Given the description of an element on the screen output the (x, y) to click on. 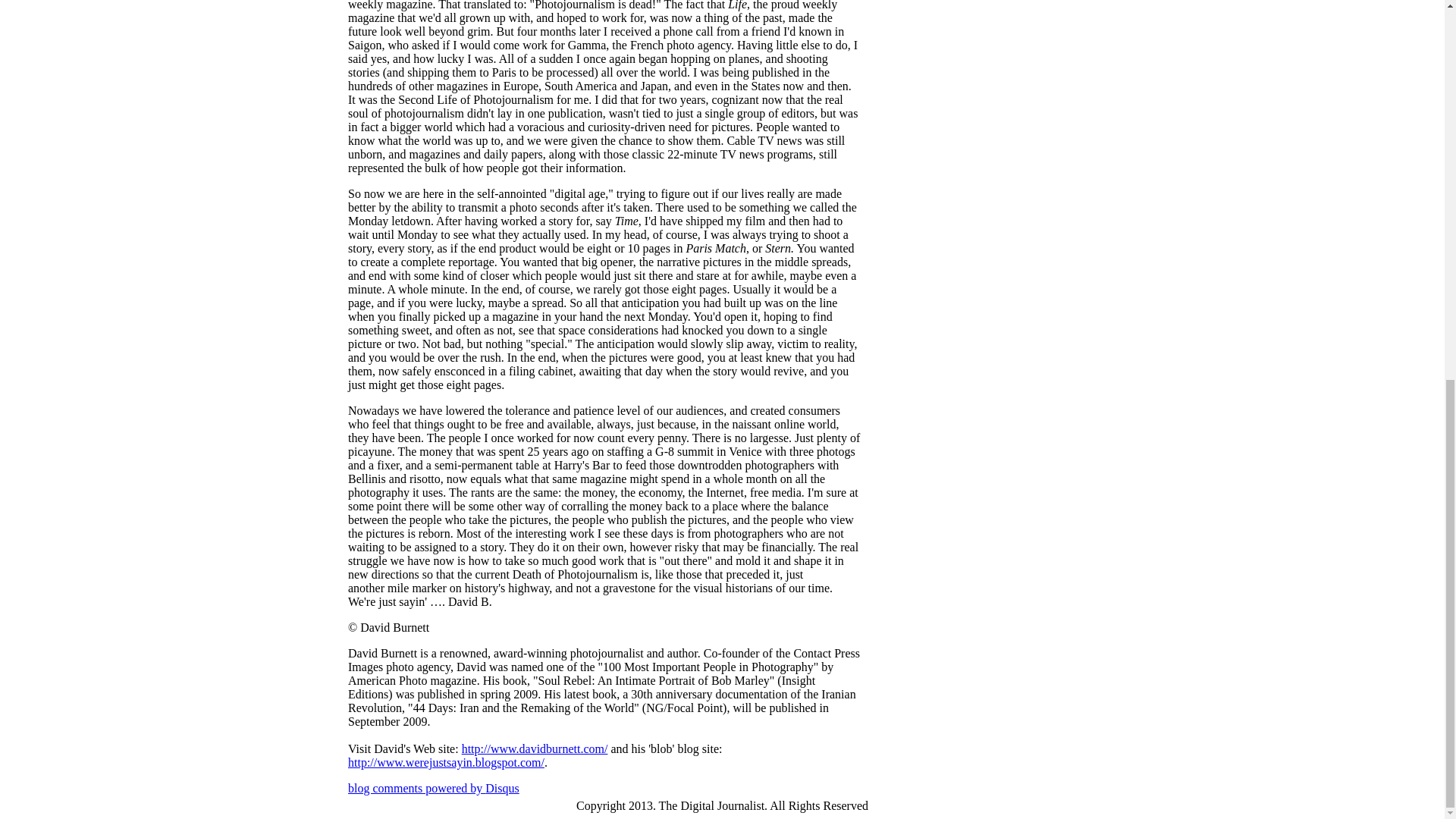
We're Just Sayin (445, 762)
blog comments powered by Disqus (433, 788)
David Burnett -- Photojournalist (534, 748)
